Given the description of an element on the screen output the (x, y) to click on. 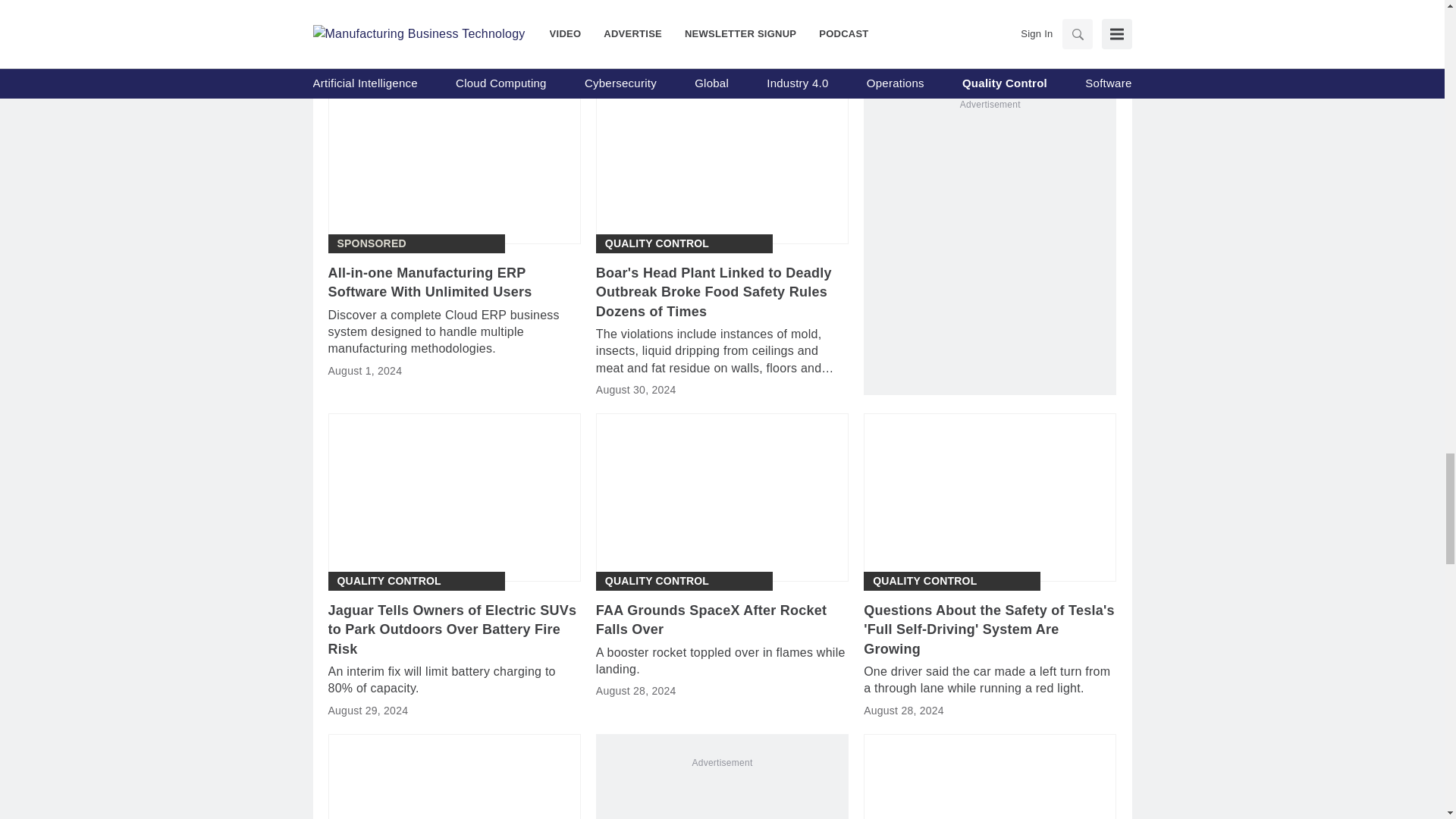
Quality Control (657, 580)
Sponsored (371, 243)
Quality Control (924, 580)
Quality Control (657, 243)
Quality Control (388, 580)
